Given the description of an element on the screen output the (x, y) to click on. 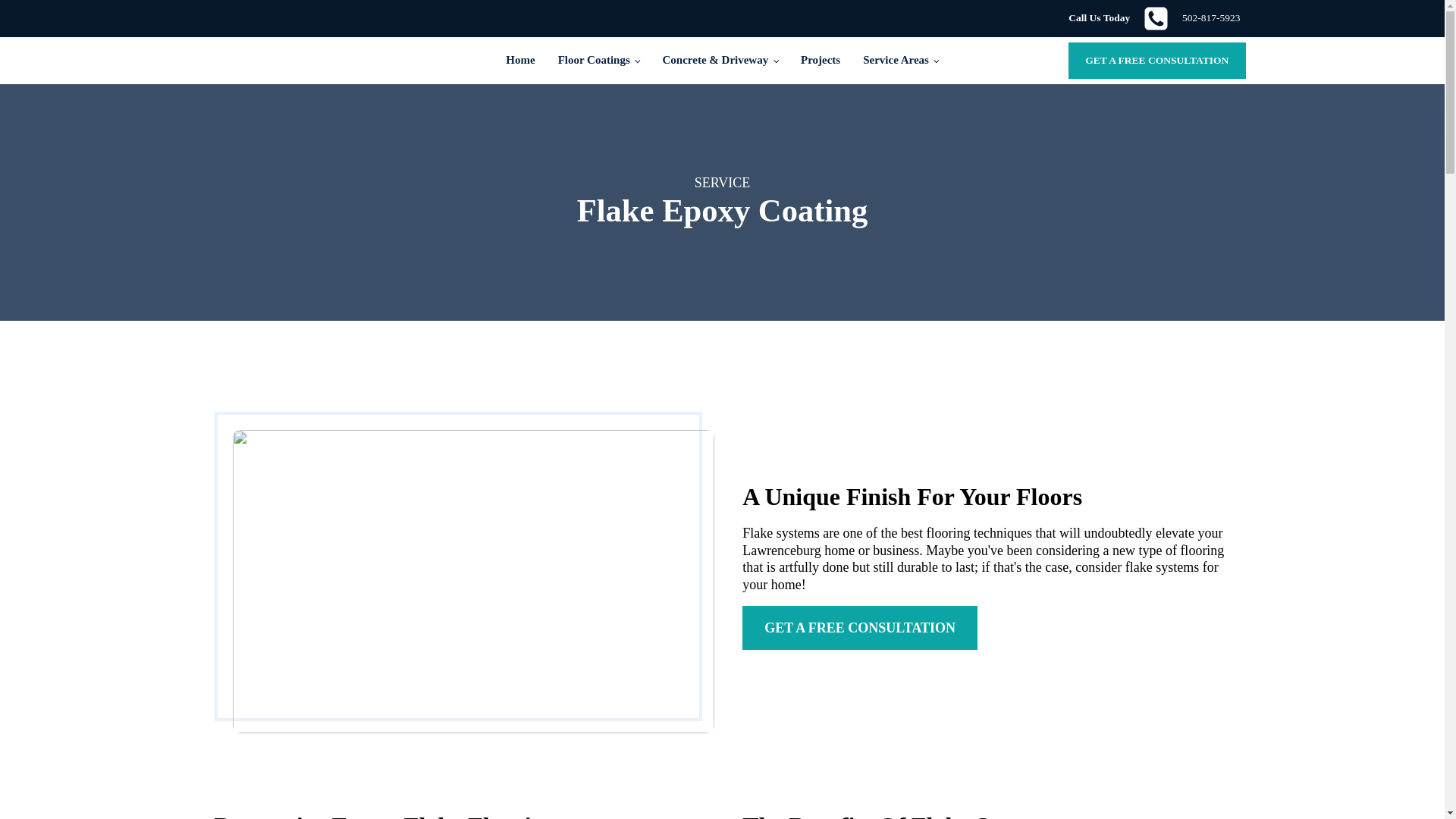
GET A FREE CONSULTATION (859, 628)
Home (520, 60)
GET A FREE CONSULTATION (1156, 60)
Projects (820, 60)
Service Areas (900, 60)
Floor Coatings (1154, 17)
